Given the description of an element on the screen output the (x, y) to click on. 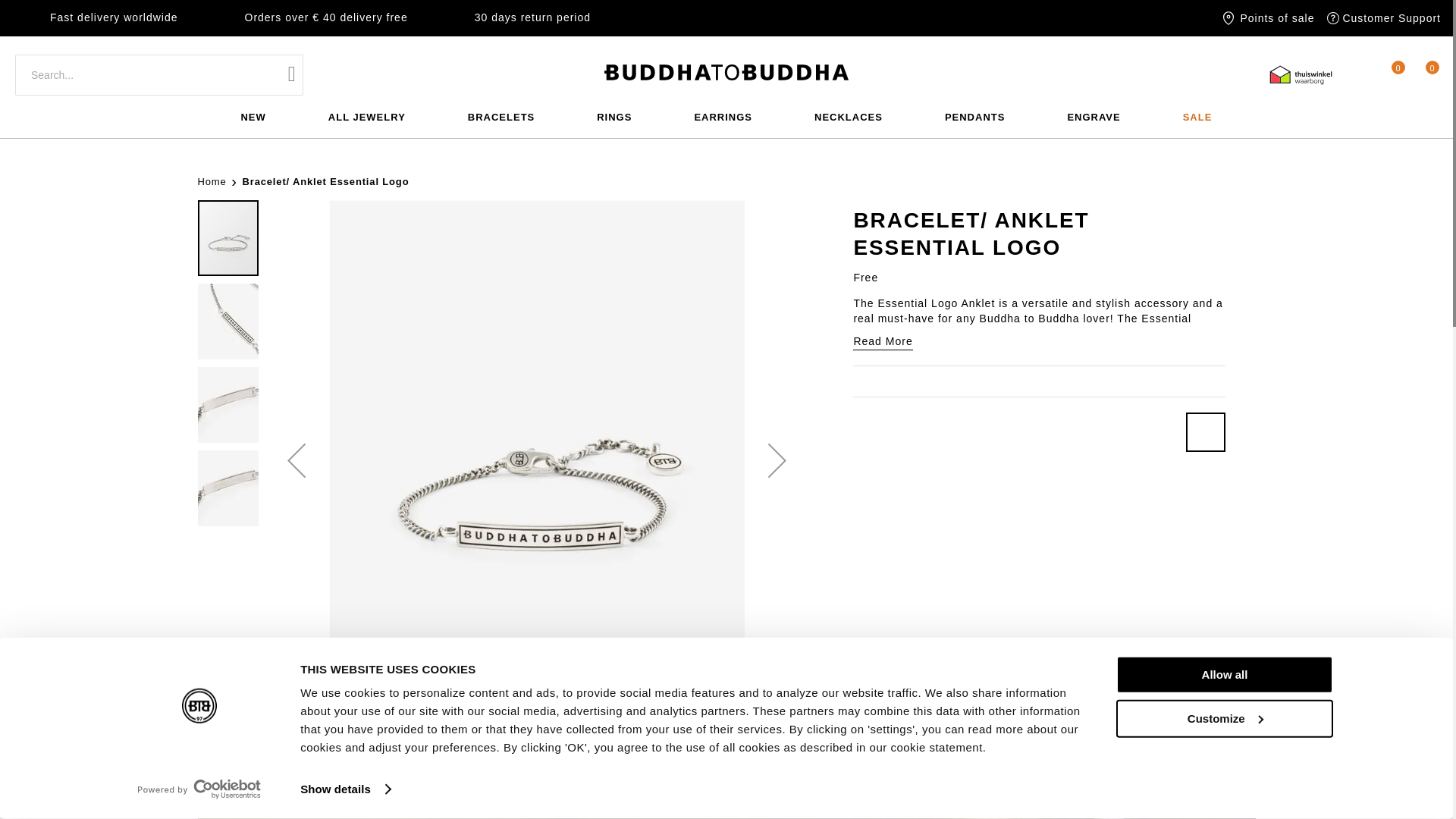
Show details (344, 789)
